Given the description of an element on the screen output the (x, y) to click on. 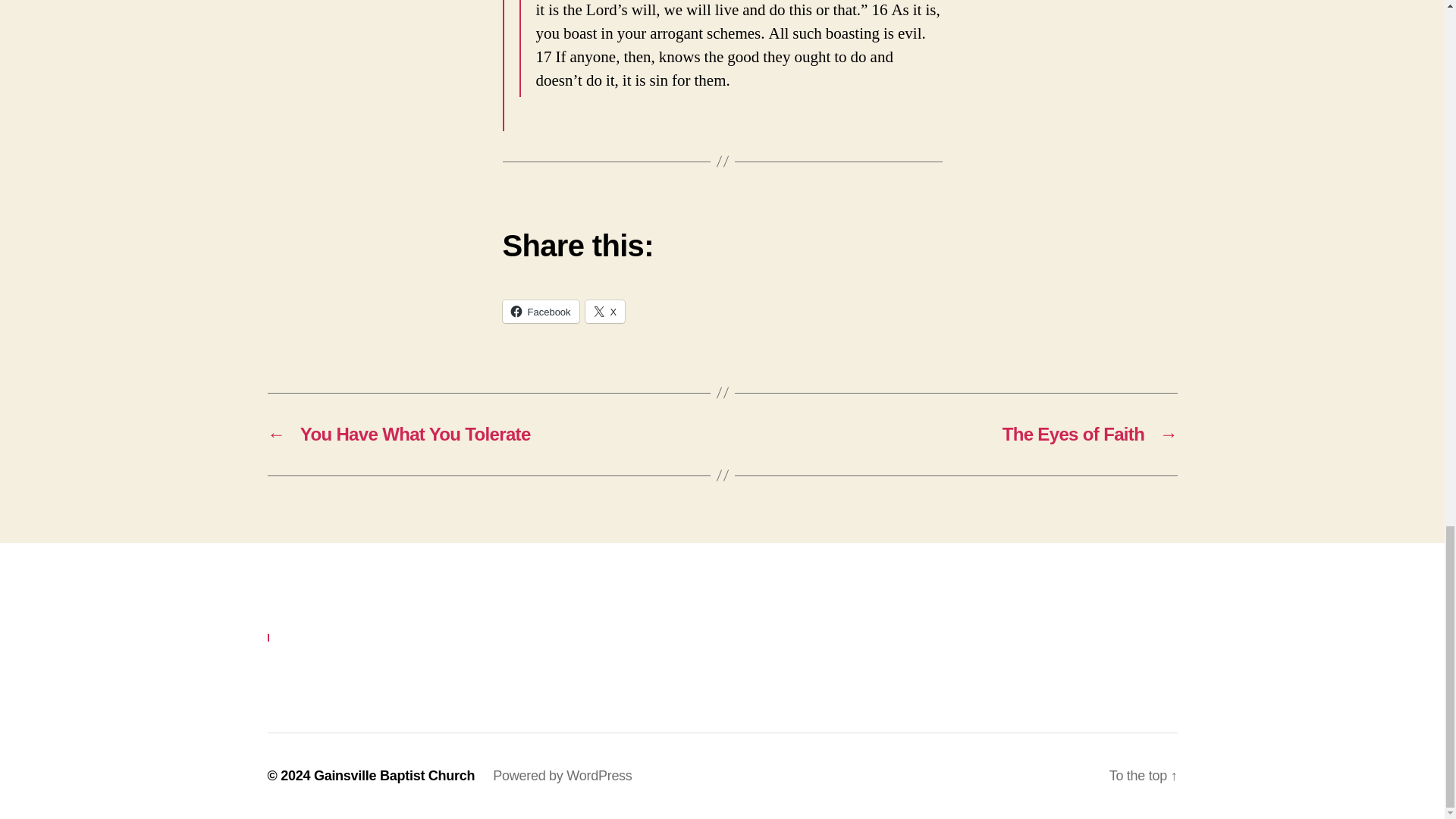
Click to share on Facebook (540, 311)
Click to share on X (605, 311)
